Given the description of an element on the screen output the (x, y) to click on. 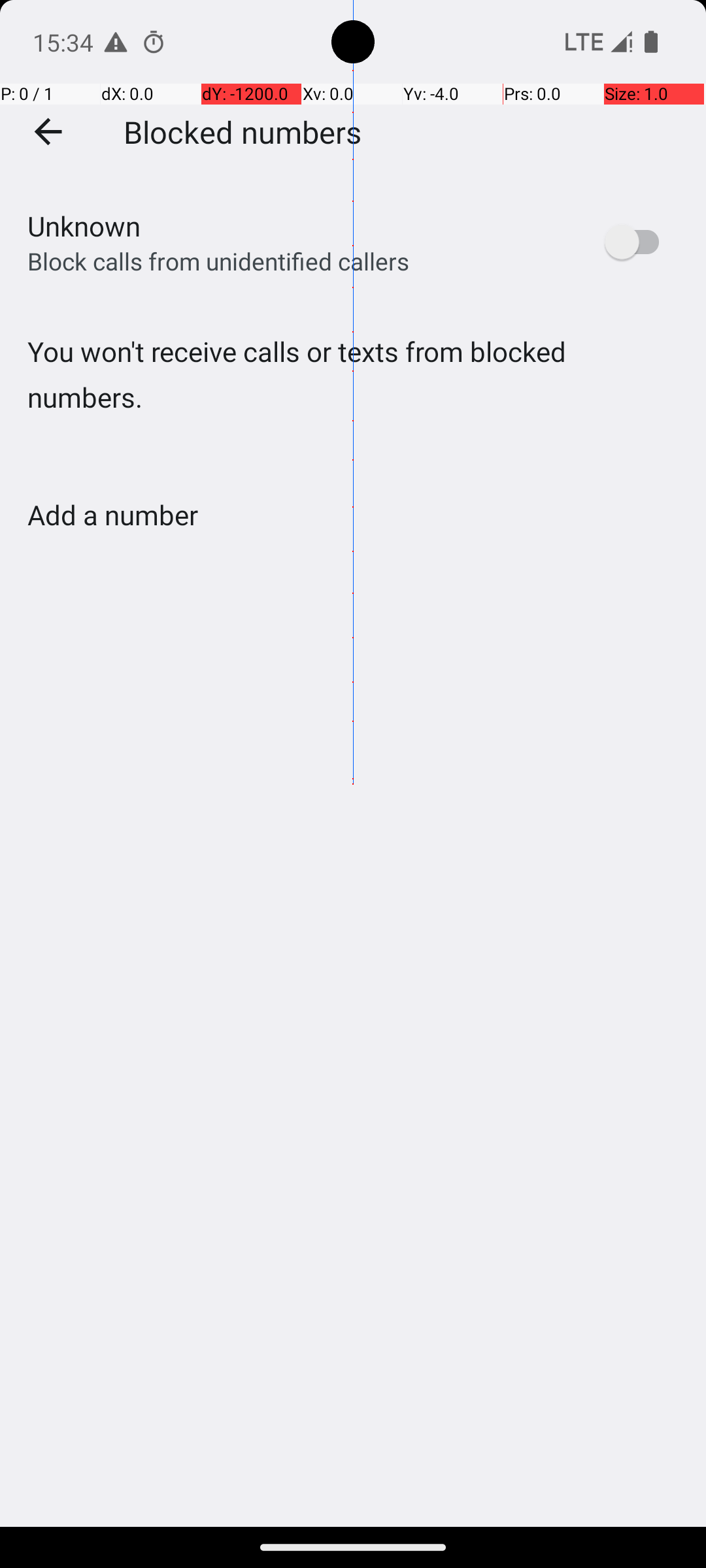
Blocked numbers Element type: android.widget.TextView (242, 131)
You won't receive calls or texts from blocked numbers. Element type: android.widget.TextView (352, 401)
Add a number Element type: android.widget.TextView (112, 514)
Unknown Element type: android.widget.TextView (83, 225)
Block calls from unidentified callers Element type: android.widget.TextView (218, 260)
